Given the description of an element on the screen output the (x, y) to click on. 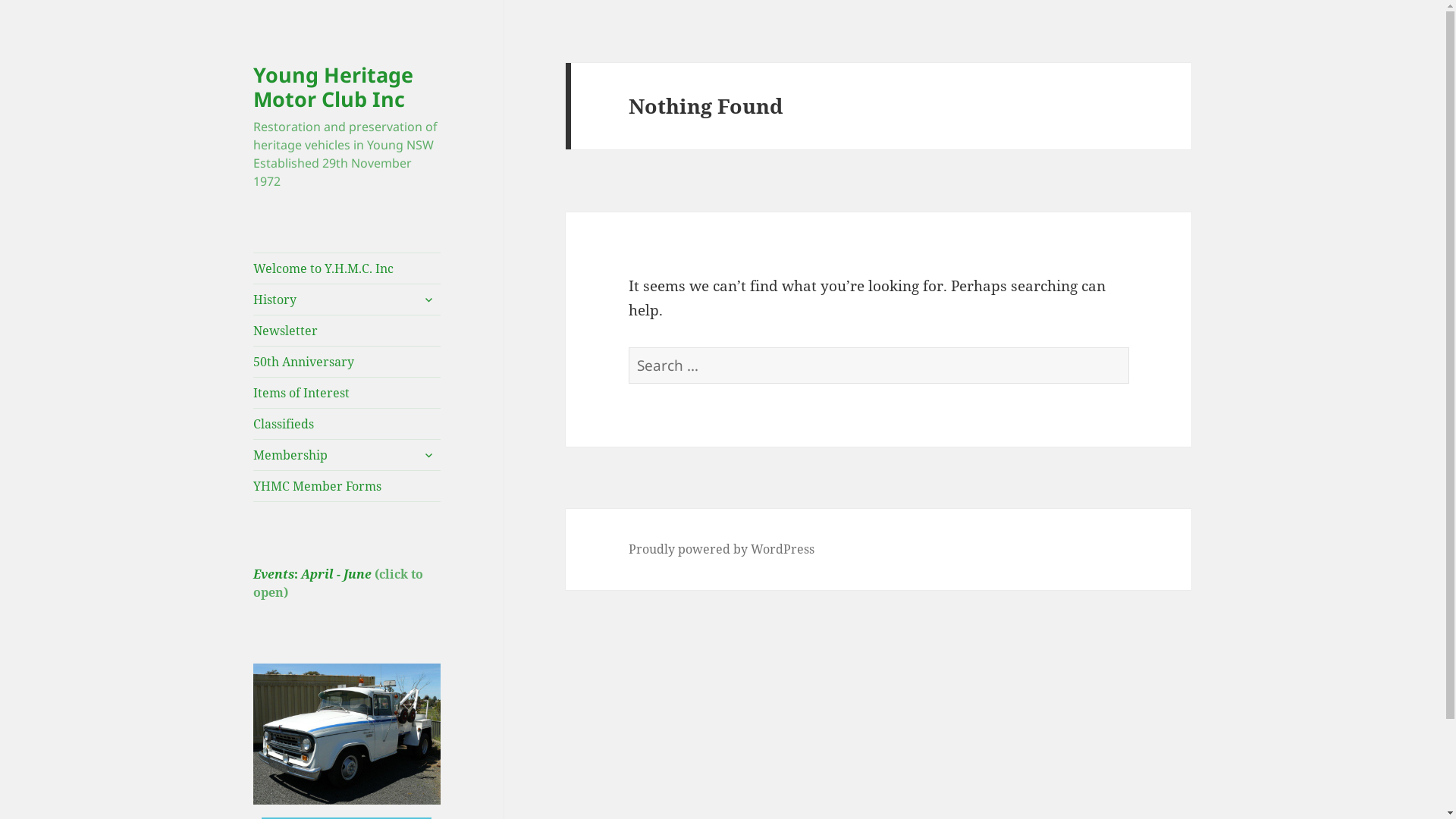
expand child menu Element type: text (428, 454)
Search Element type: text (1128, 346)
expand child menu Element type: text (428, 299)
Welcome to Y.H.M.C. Inc Element type: text (347, 268)
YHMC Member Forms Element type: text (347, 485)
Items of Interest Element type: text (347, 392)
50th Anniversary Element type: text (347, 361)
Membership Element type: text (347, 454)
Young Heritage Motor Club Inc Element type: text (333, 86)
Newsletter Element type: text (347, 330)
History Element type: text (347, 299)
Proudly powered by WordPress Element type: text (721, 549)
Events: April - June Element type: text (312, 573)
Classifieds Element type: text (347, 423)
